Given the description of an element on the screen output the (x, y) to click on. 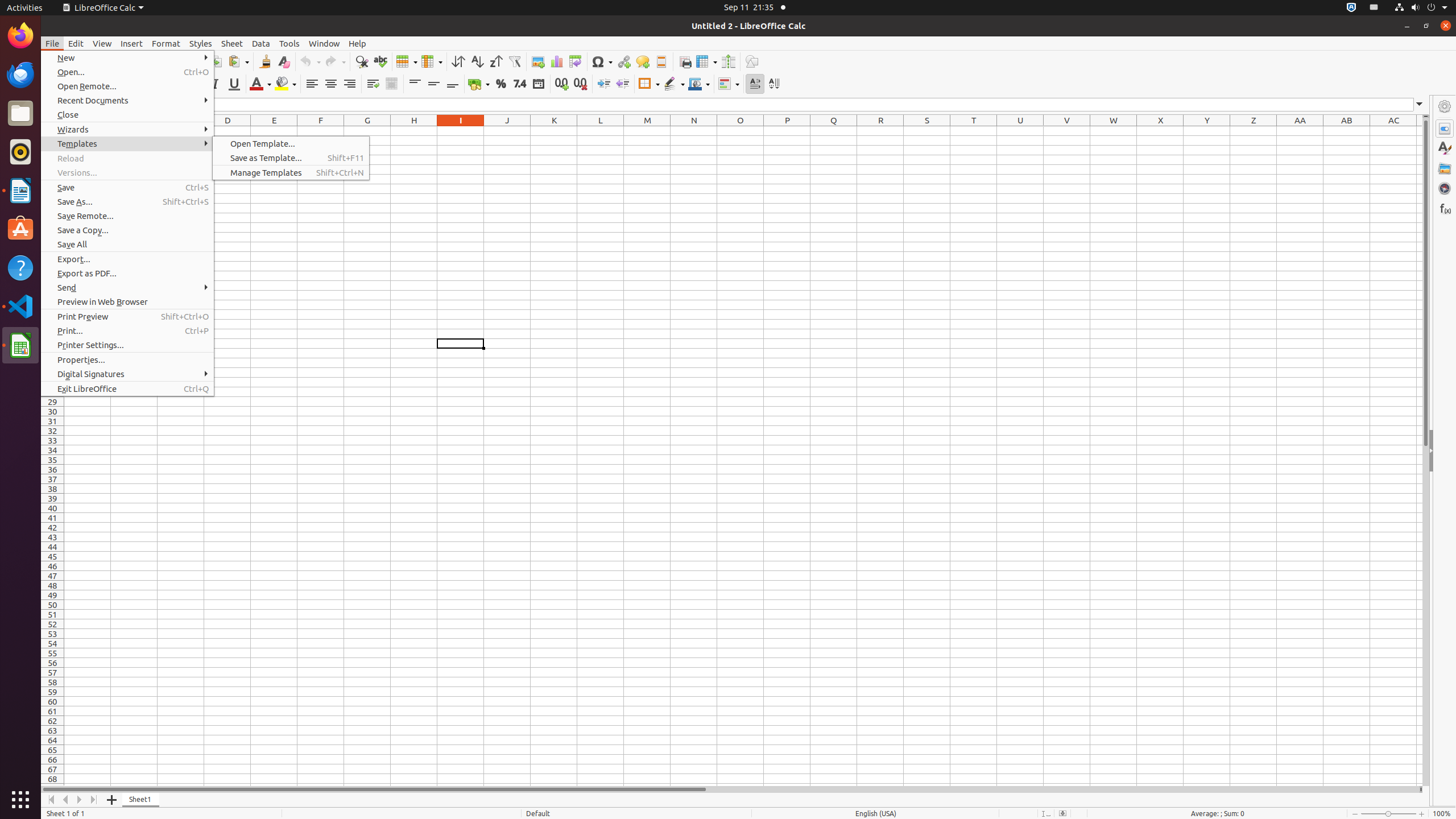
Insert Element type: menu (131, 43)
Text direction from left to right Element type: toggle-button (754, 83)
Save a Copy... Element type: menu-item (126, 229)
Comment Element type: push-button (642, 61)
Move To Home Element type: push-button (51, 799)
